Given the description of an element on the screen output the (x, y) to click on. 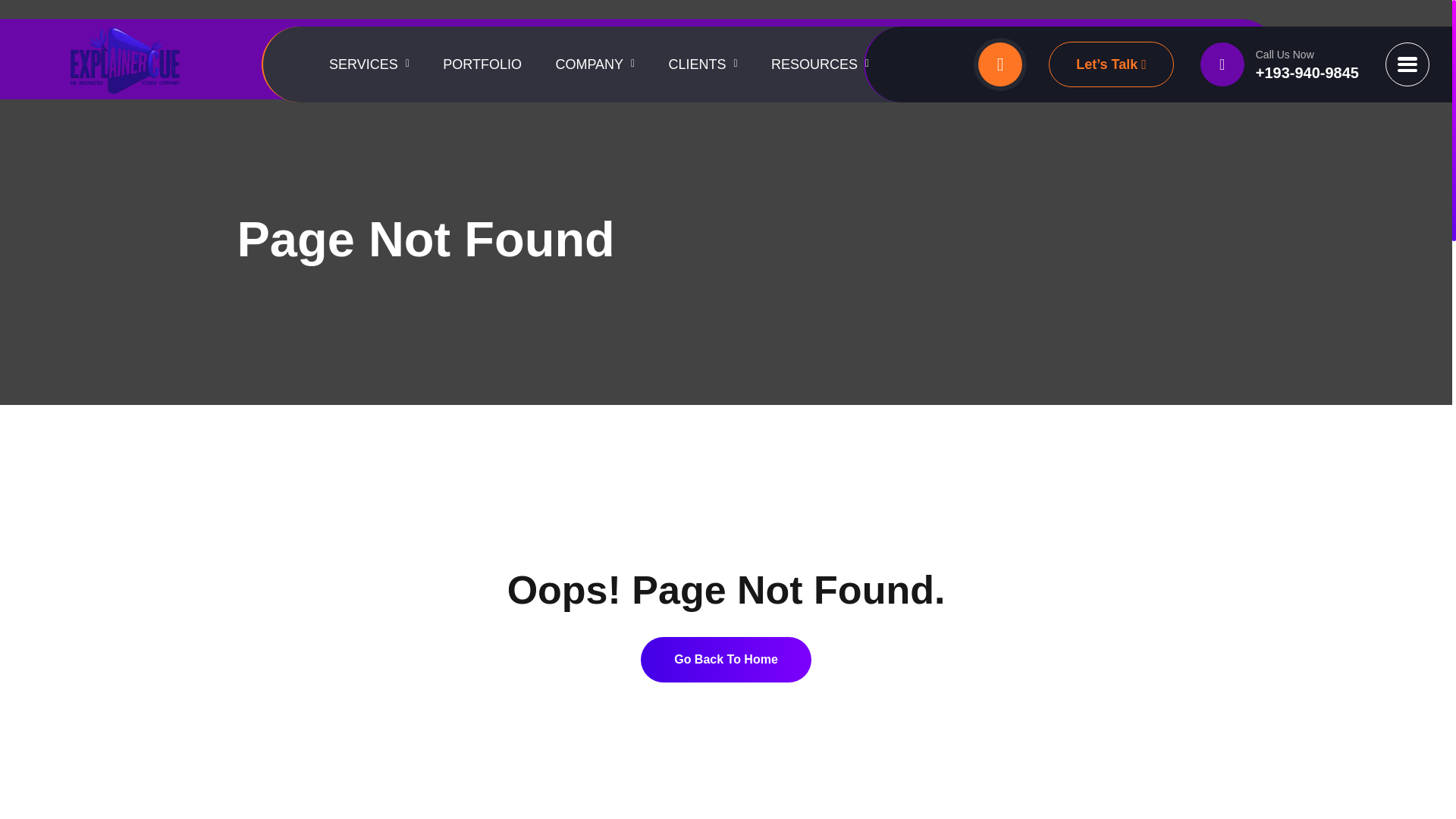
COMPANY (594, 64)
CLIENTS (703, 64)
SERVICES (369, 64)
RESOURCES (820, 64)
PORTFOLIO (481, 64)
